Given the description of an element on the screen output the (x, y) to click on. 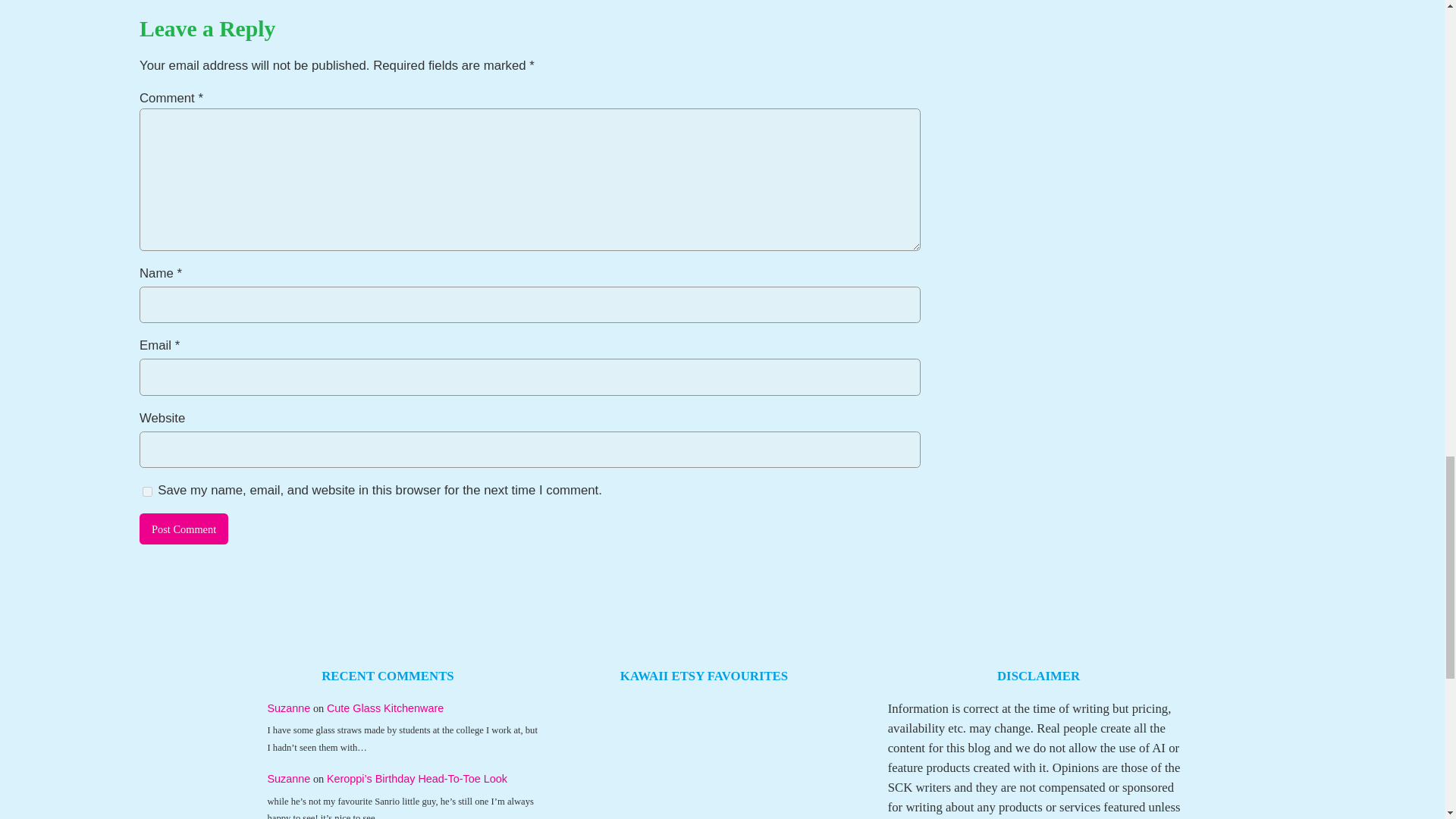
yes (147, 491)
Post Comment (183, 529)
